Given the description of an element on the screen output the (x, y) to click on. 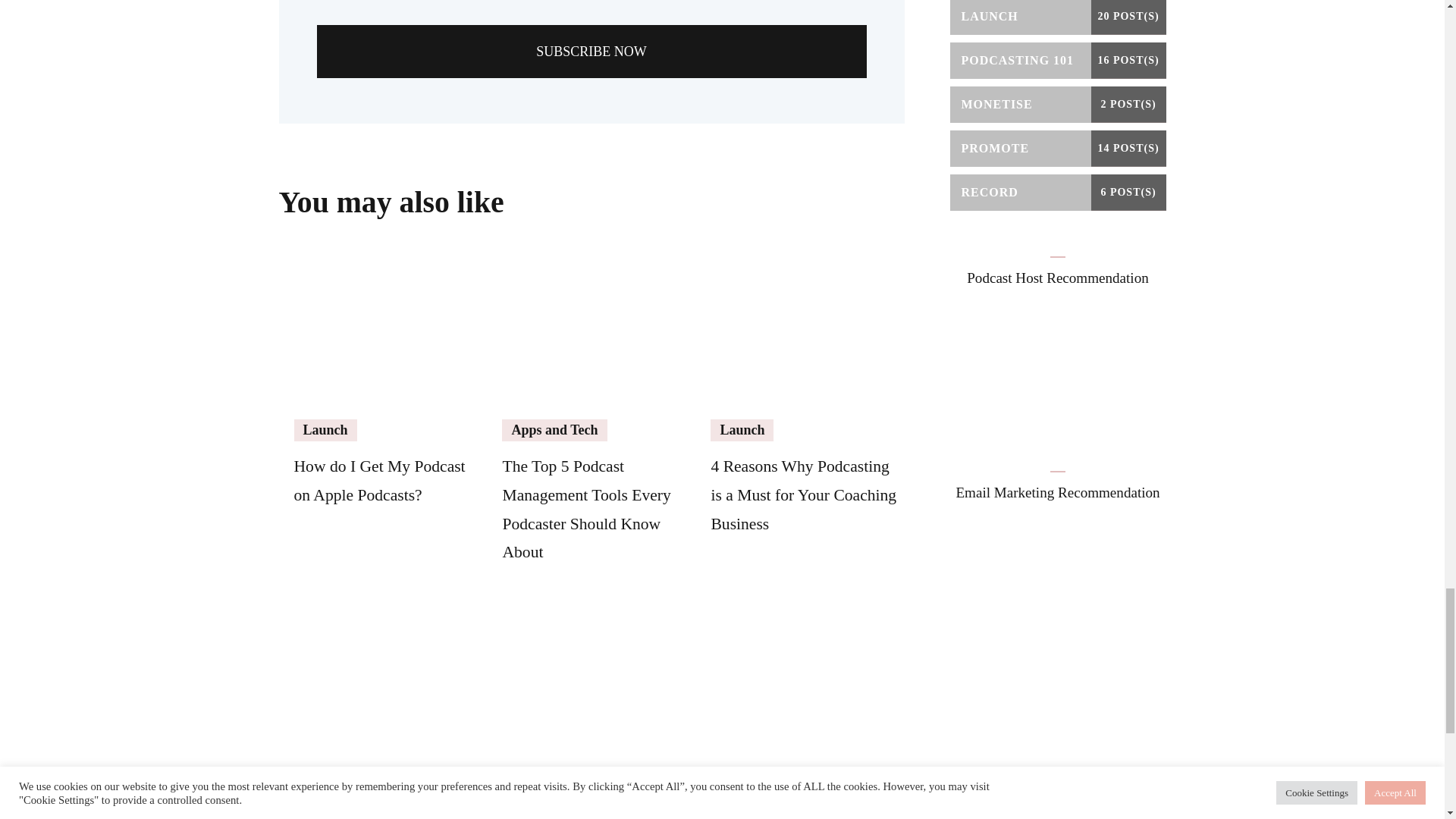
00:03:24 (325, 129)
00:03:24 (330, 172)
SUBSCRIBE NOW (591, 50)
